Given the description of an element on the screen output the (x, y) to click on. 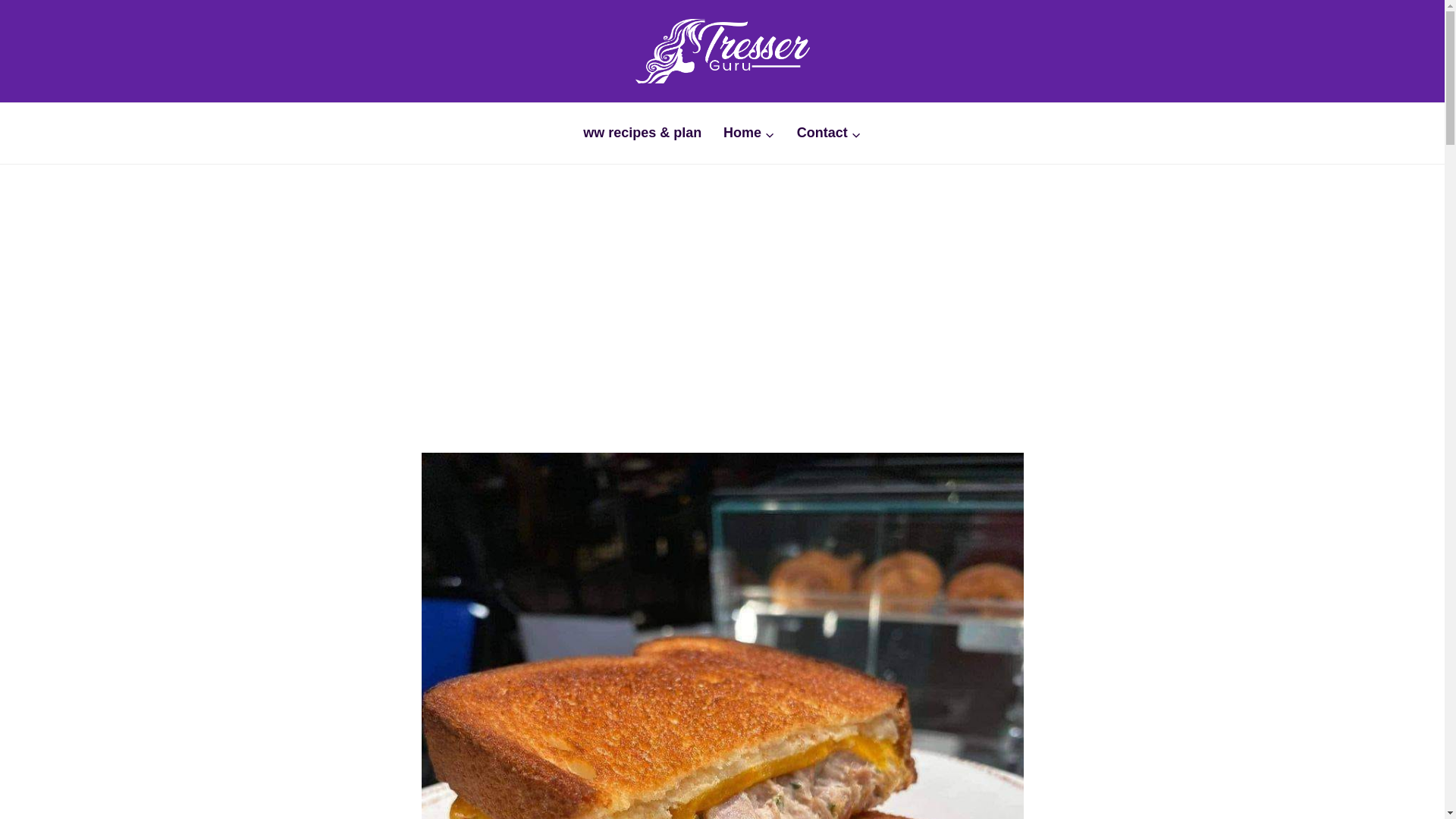
Contact (829, 133)
Home (749, 133)
